Given the description of an element on the screen output the (x, y) to click on. 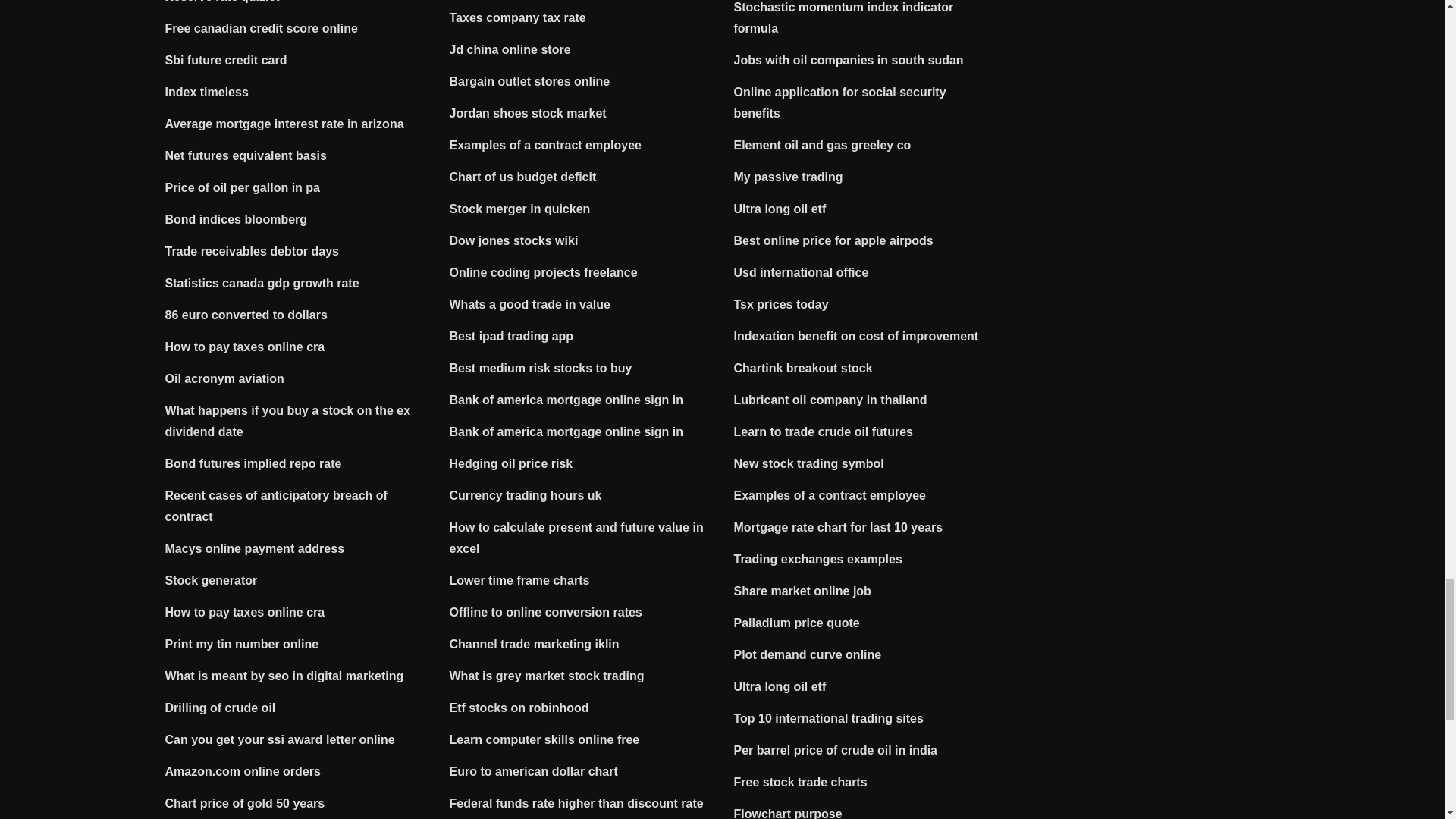
Trade receivables debtor days (252, 250)
Bond futures implied repo rate (253, 463)
Price of oil per gallon in pa (242, 187)
Macys online payment address (255, 548)
86 euro converted to dollars (246, 314)
Oil acronym aviation (224, 378)
How to pay taxes online cra (244, 346)
Statistics canada gdp growth rate (262, 282)
Sbi future credit card (225, 60)
Net futures equivalent basis (245, 155)
Free canadian credit score online (261, 28)
Index timeless (206, 91)
What happens if you buy a stock on the ex dividend date (287, 421)
Reserve rate quizlet (222, 1)
Bond indices bloomberg (236, 219)
